Given the description of an element on the screen output the (x, y) to click on. 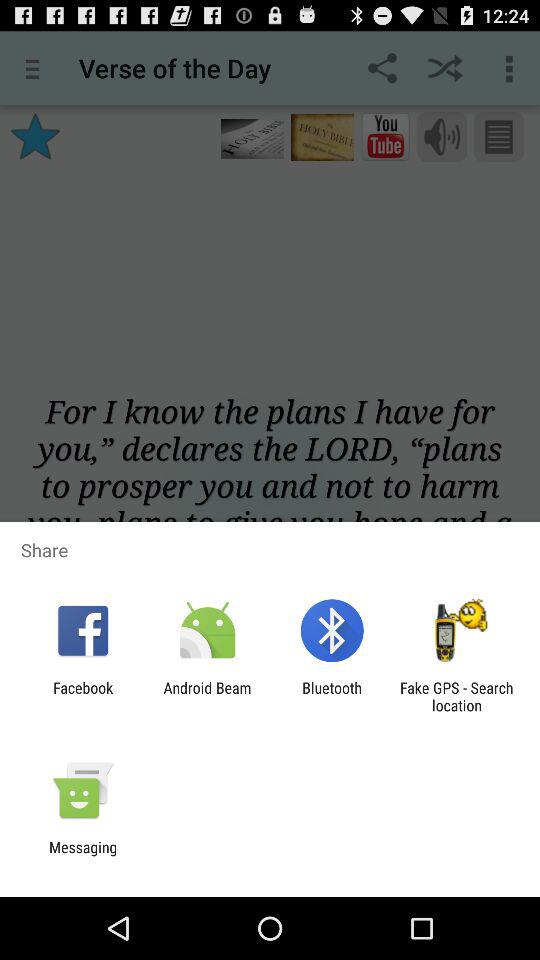
choose item next to the bluetooth (207, 696)
